Given the description of an element on the screen output the (x, y) to click on. 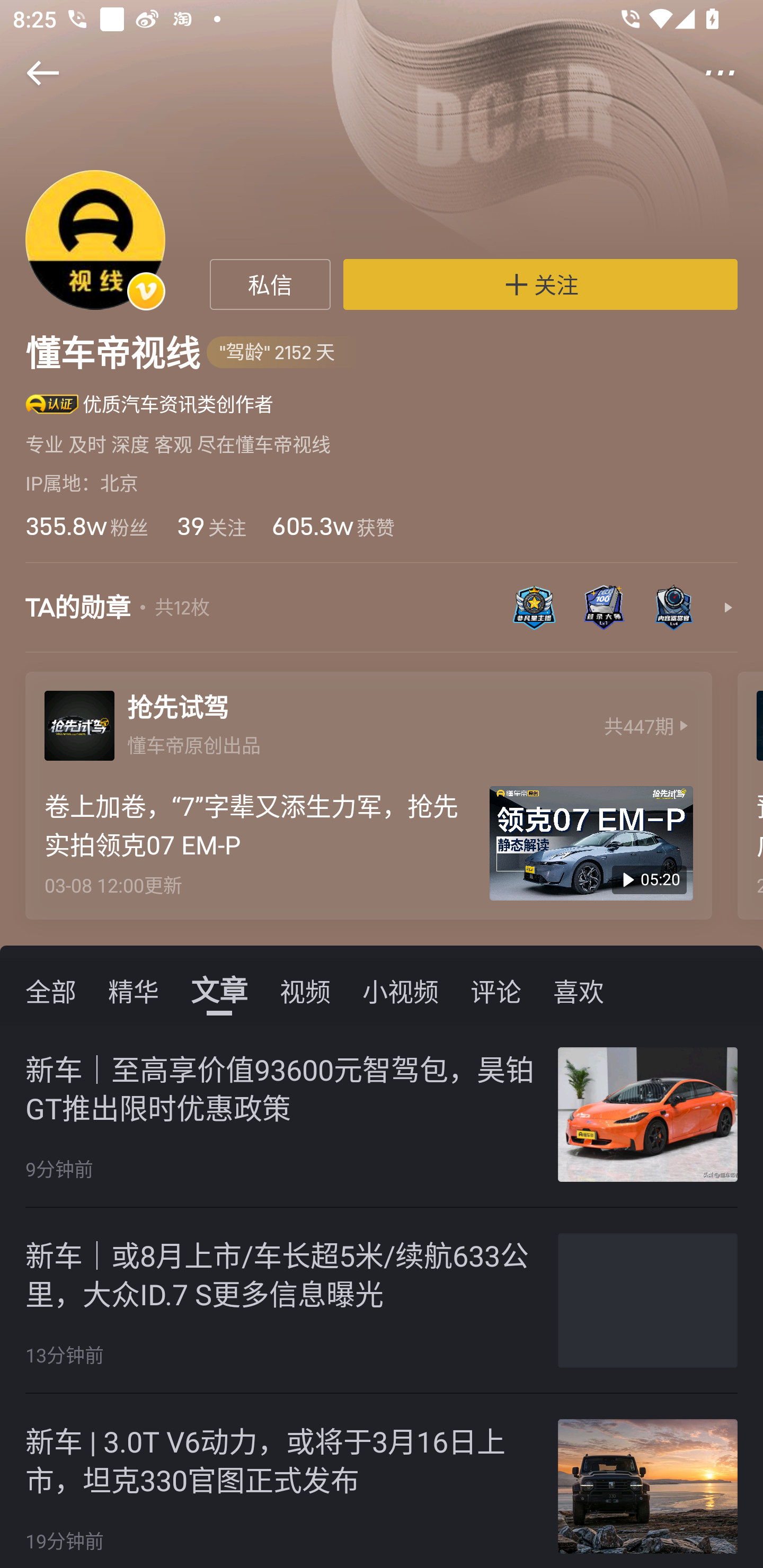
 (30, 72)
 (732, 72)
私信 (269, 284)
 关注 (540, 284)
"驾龄" 2152 天 (286, 352)
355.8w 粉丝 (86, 526)
39 关注 (209, 526)
605.3w 获赞 (332, 526)
TA的勋章 共12枚  (381, 616)
抢先试驾 懂车帝原创出品 共447期  (368, 722)
全部 (50, 990)
精华 (133, 990)
文章 (218, 990)
视频 (305, 990)
小视频 (400, 990)
评论 (495, 990)
喜欢 (578, 990)
新车｜至高享价值93600元智驾包，昊铂GT推出限时优惠政策 9分钟前 (381, 1114)
新车｜或8月上市/车长超5米/续航633公里，大众ID.7 S更多信息曝光 13分钟前 (381, 1300)
新车 | 3.0T V6动力，或将于3月16日上市，坦克330官图正式发布 19分钟前 (381, 1480)
